Given the description of an element on the screen output the (x, y) to click on. 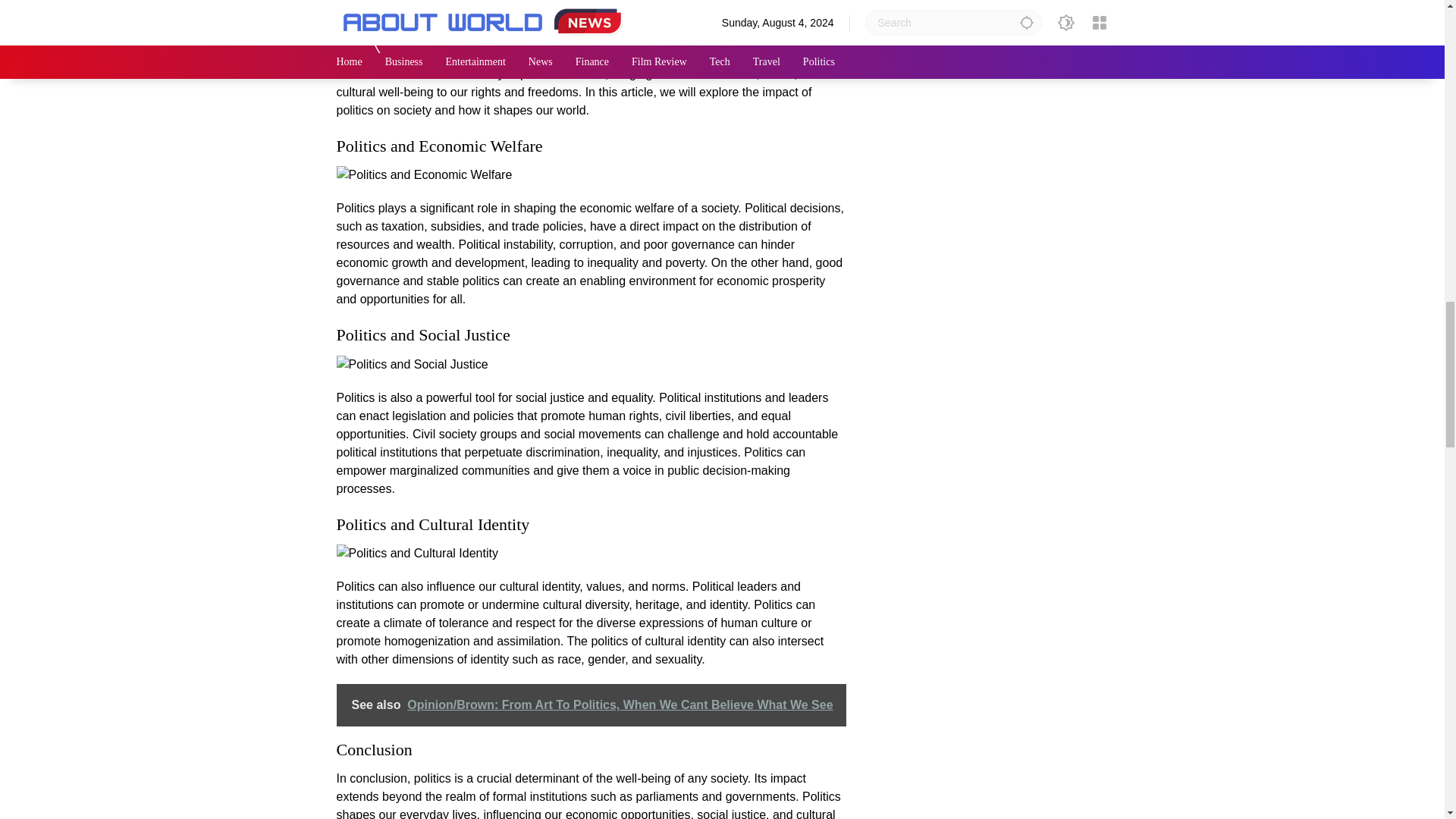
Politics and Social Justice (411, 364)
Politics and Economic Welfare (424, 175)
